Given the description of an element on the screen output the (x, y) to click on. 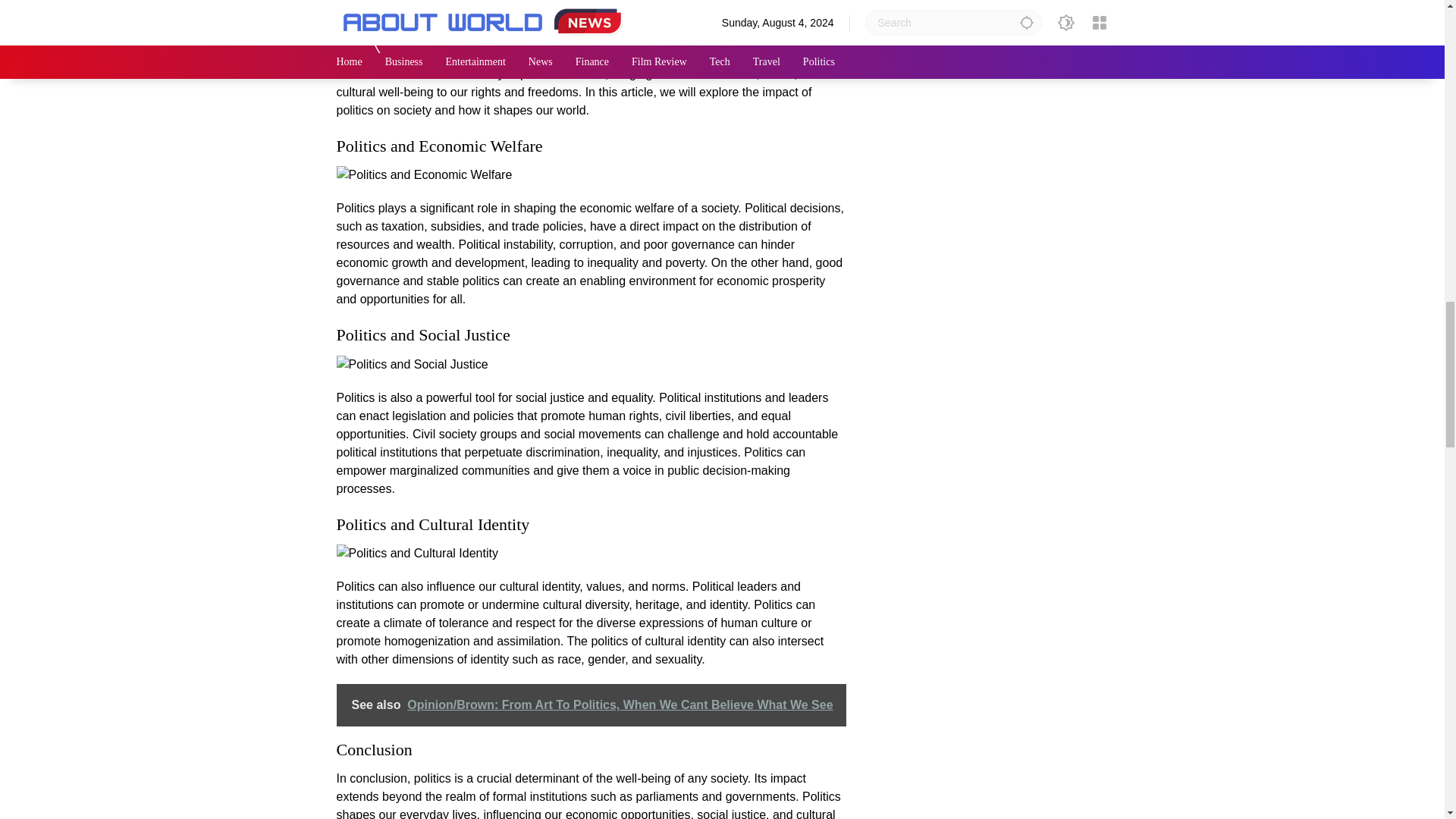
Politics and Social Justice (411, 364)
Politics and Economic Welfare (424, 175)
